Given the description of an element on the screen output the (x, y) to click on. 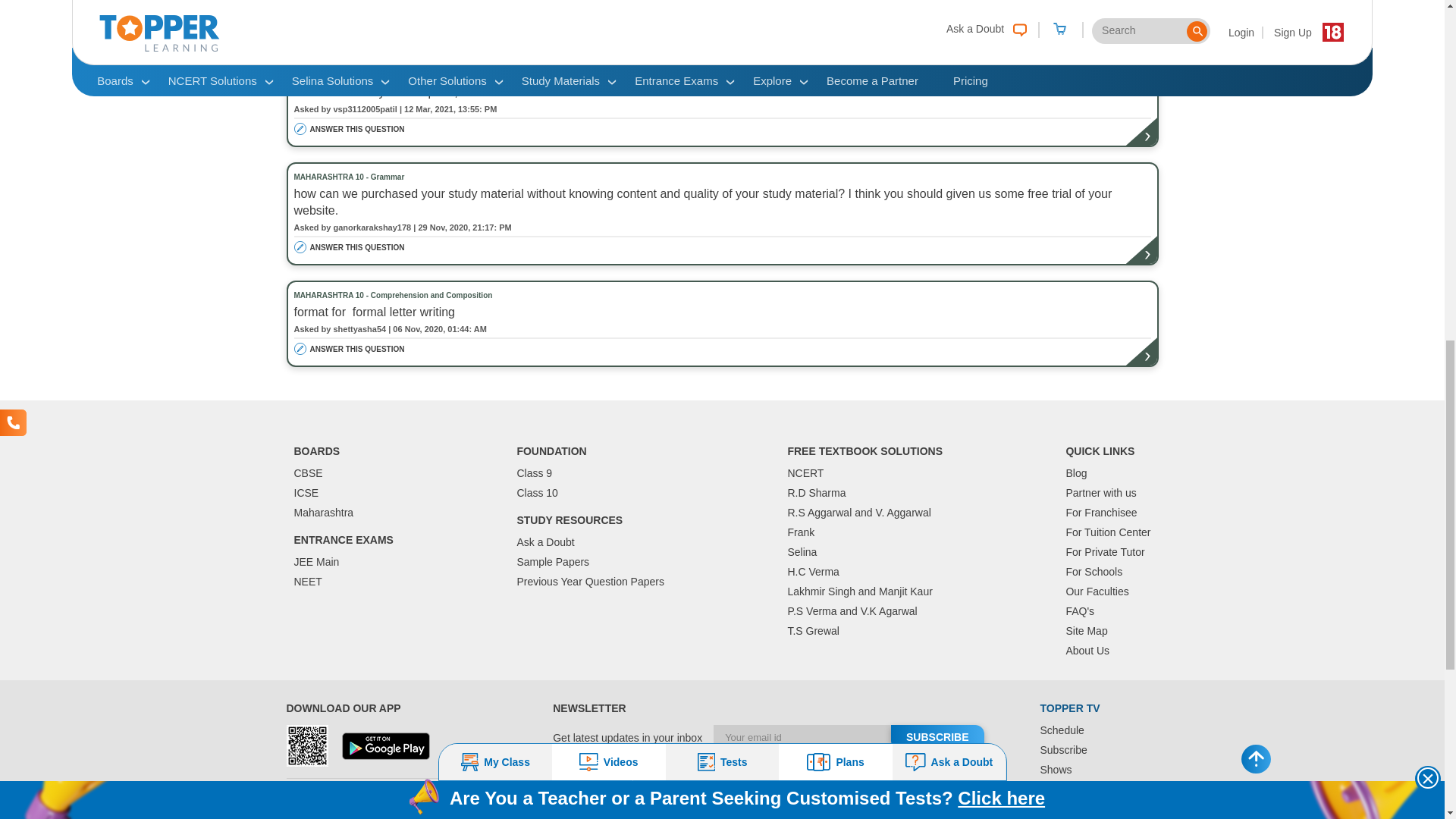
QR Code (307, 745)
Googleplay (385, 746)
Instagram (927, 817)
Facebook (897, 817)
